Given the description of an element on the screen output the (x, y) to click on. 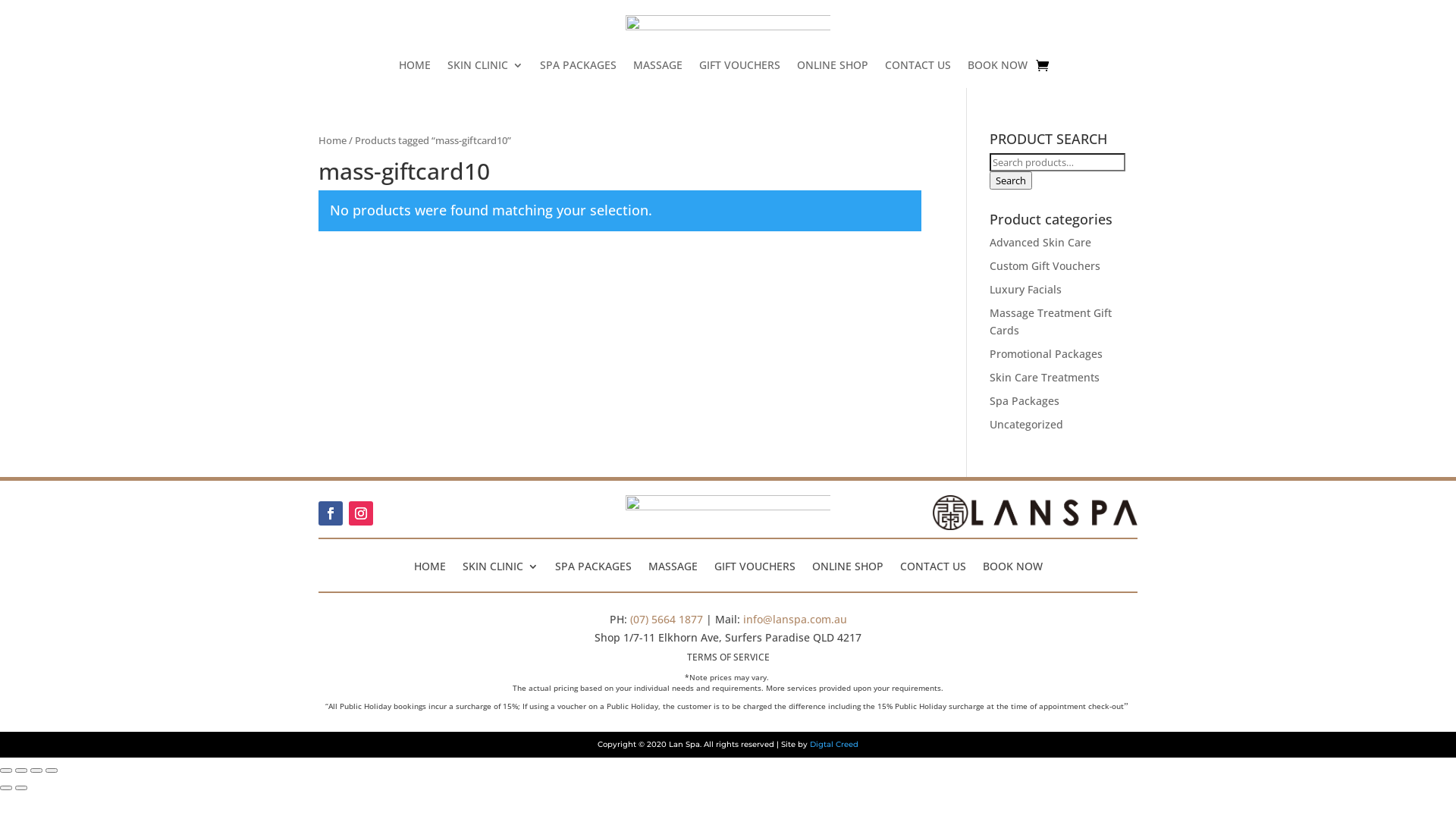
SPA PACKAGES Element type: text (577, 67)
Massage Treatment Gift Cards Element type: text (1050, 321)
Skin Care Treatments Element type: text (1044, 377)
ONLINE SHOP Element type: text (846, 563)
CONTACT US Element type: text (917, 67)
GIFT VOUCHERS Element type: text (739, 67)
(07) 5664 1877 Element type: text (665, 618)
SKIN CLINIC Element type: text (500, 563)
Afterpay_01 Element type: hover (727, 512)
CONTACT US Element type: text (932, 563)
GIFT VOUCHERS Element type: text (754, 563)
Home Element type: text (332, 140)
Digtal Creed Element type: text (833, 744)
SKIN CLINIC Element type: text (485, 67)
Spa Packages Element type: text (1024, 400)
Uncategorized Element type: text (1026, 424)
MASSAGE Element type: text (657, 67)
HOME Element type: text (414, 67)
TERMS OF SERVICE Element type: text (728, 656)
Follow on Facebook Element type: hover (330, 513)
BOOK NOW Element type: text (997, 67)
BOOK NOW Element type: text (1012, 563)
HOME Element type: text (429, 563)
ONLINE SHOP Element type: text (832, 67)
Search Element type: text (1010, 180)
lanspa-logo01 Element type: hover (1034, 512)
MASSAGE Element type: text (671, 563)
info@lanspa.com.au Element type: text (795, 618)
Custom Gift Vouchers Element type: text (1044, 265)
Promotional Packages Element type: text (1045, 353)
Luxury Facials Element type: text (1025, 289)
Advanced Skin Care Element type: text (1040, 242)
Follow on Instagram Element type: hover (360, 513)
SPA PACKAGES Element type: text (593, 563)
lanspa-logo01 Element type: hover (727, 32)
